Given the description of an element on the screen output the (x, y) to click on. 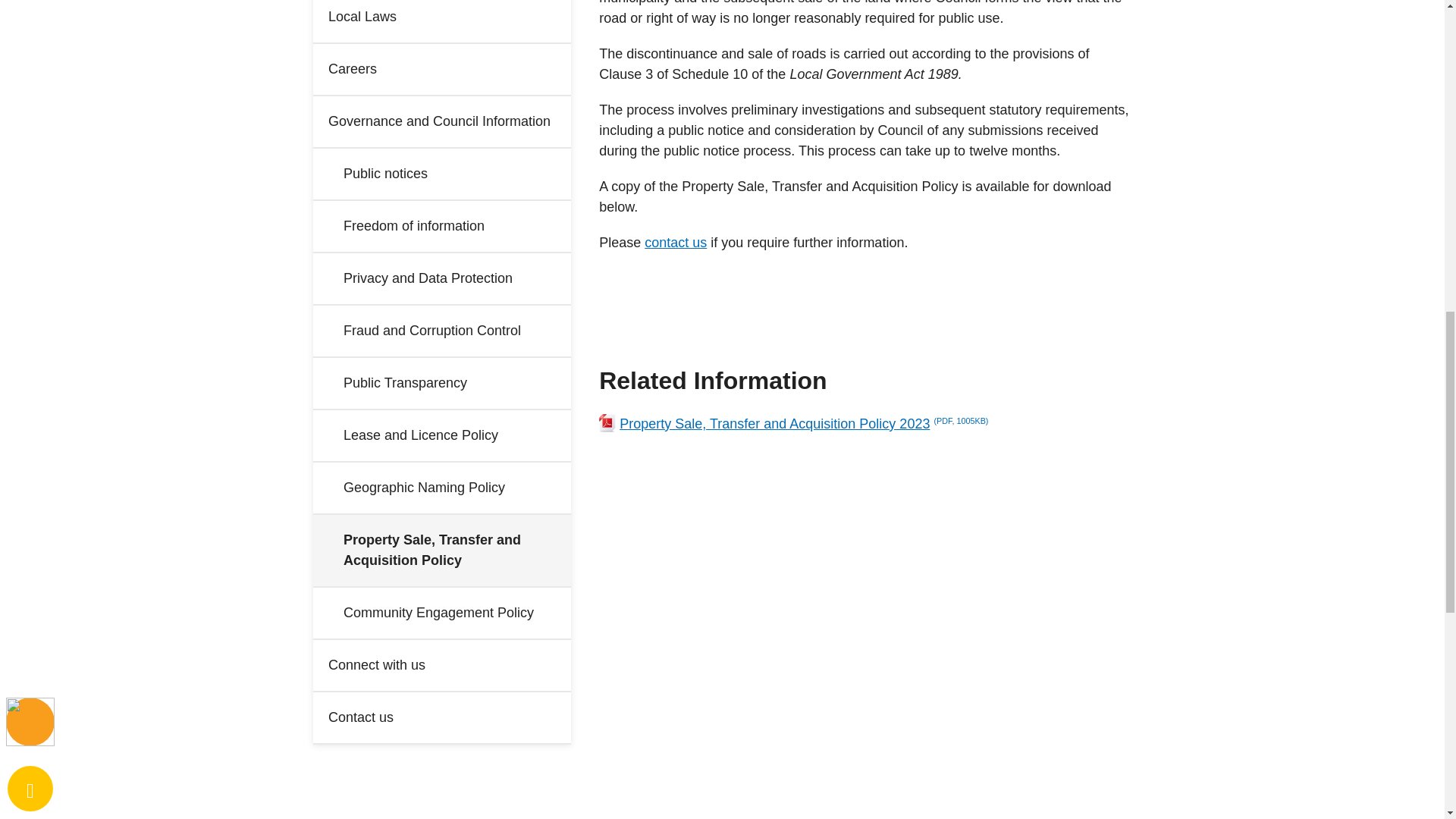
Property Sale, Transfer and Acquisition Policy 2023 (864, 424)
